Given the description of an element on the screen output the (x, y) to click on. 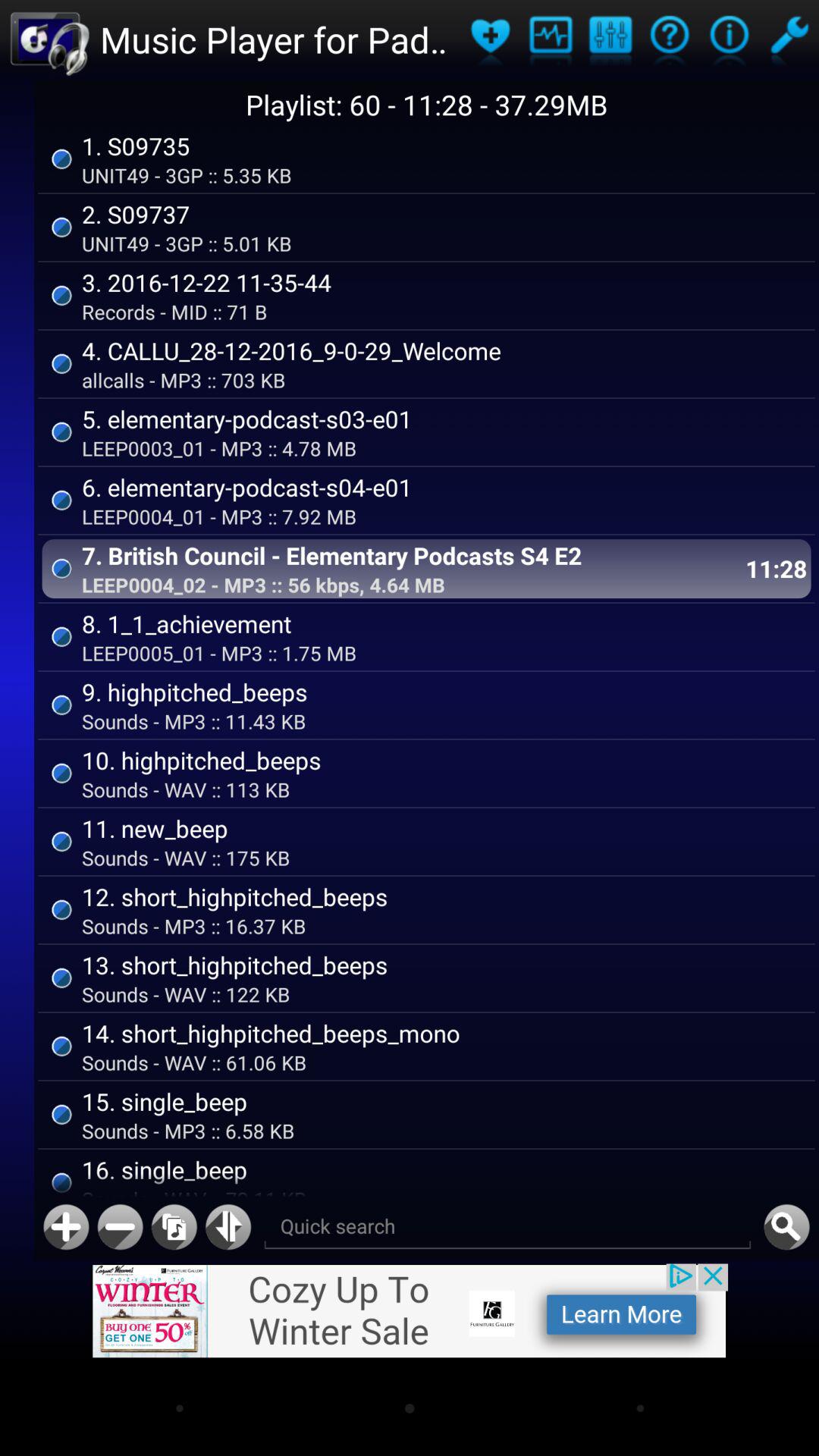
advertisenent (409, 1310)
